Given the description of an element on the screen output the (x, y) to click on. 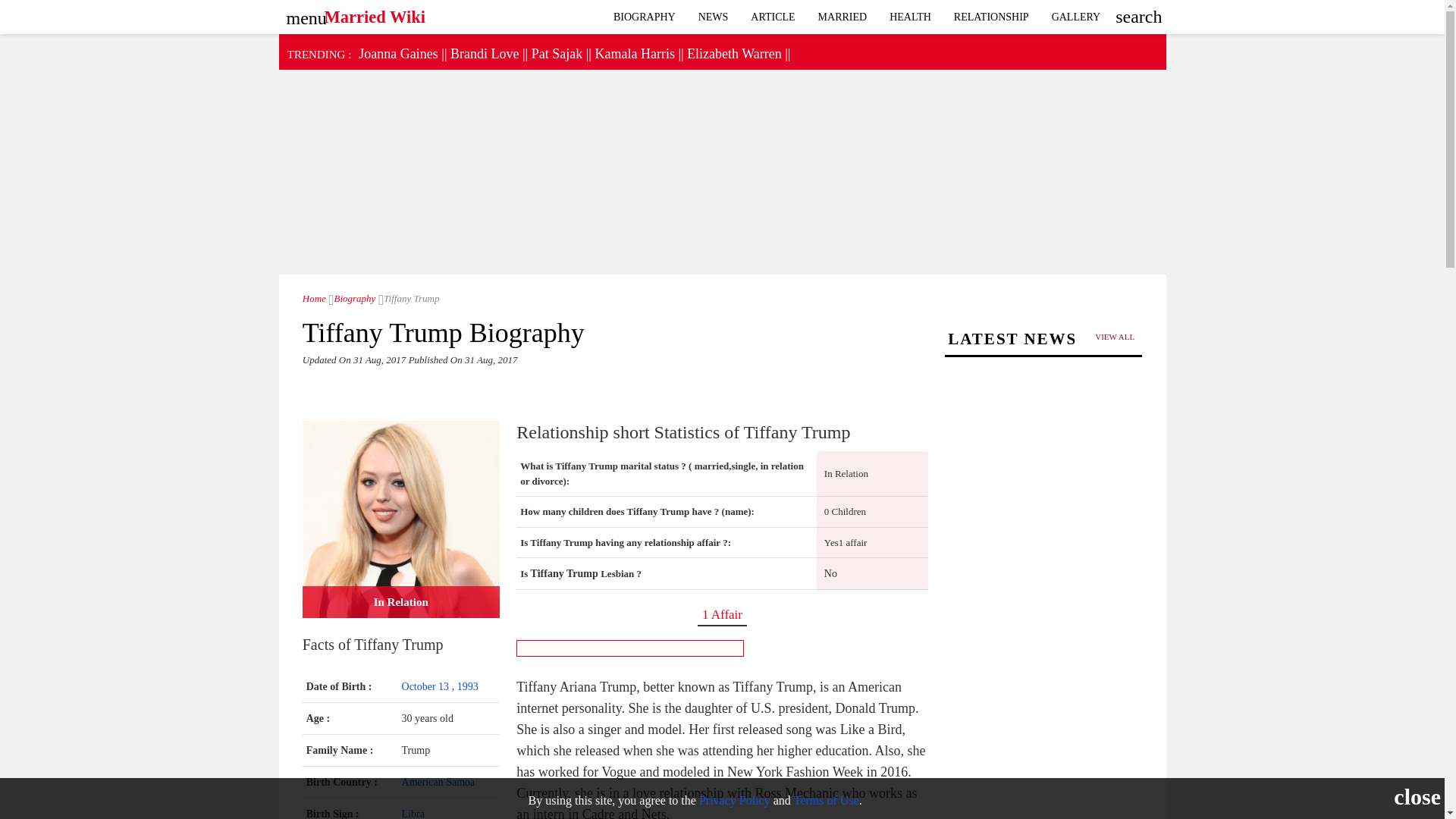
married (842, 17)
Home (314, 297)
Article (772, 17)
October 13 (426, 686)
Relationship (991, 17)
Joanna Gaines (398, 53)
Brandi Love (483, 53)
Biography (644, 17)
Elizabeth Warren (734, 53)
Brandi Love (483, 53)
